Given the description of an element on the screen output the (x, y) to click on. 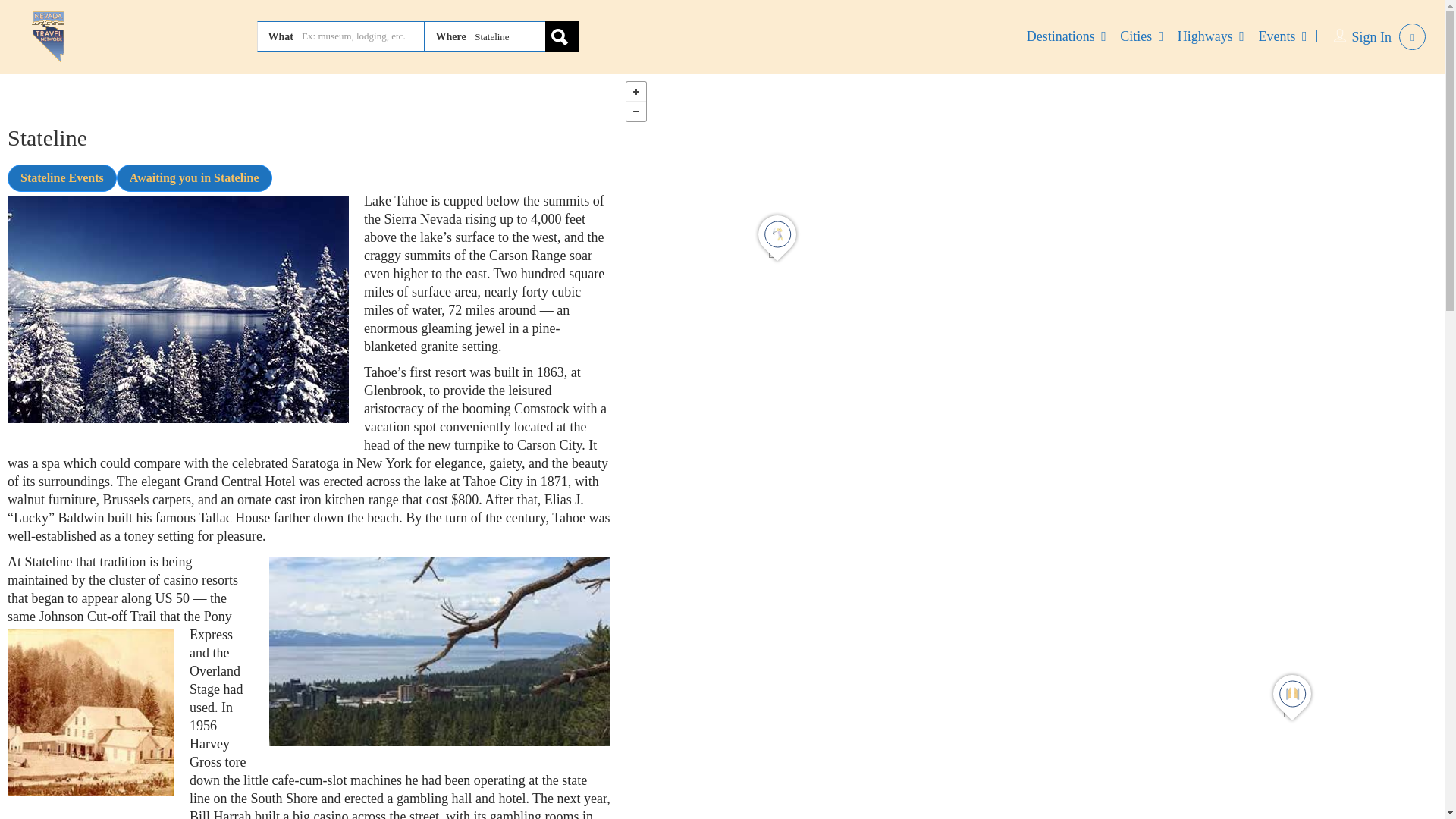
Zoom in (636, 91)
Zoom out (636, 111)
